Given the description of an element on the screen output the (x, y) to click on. 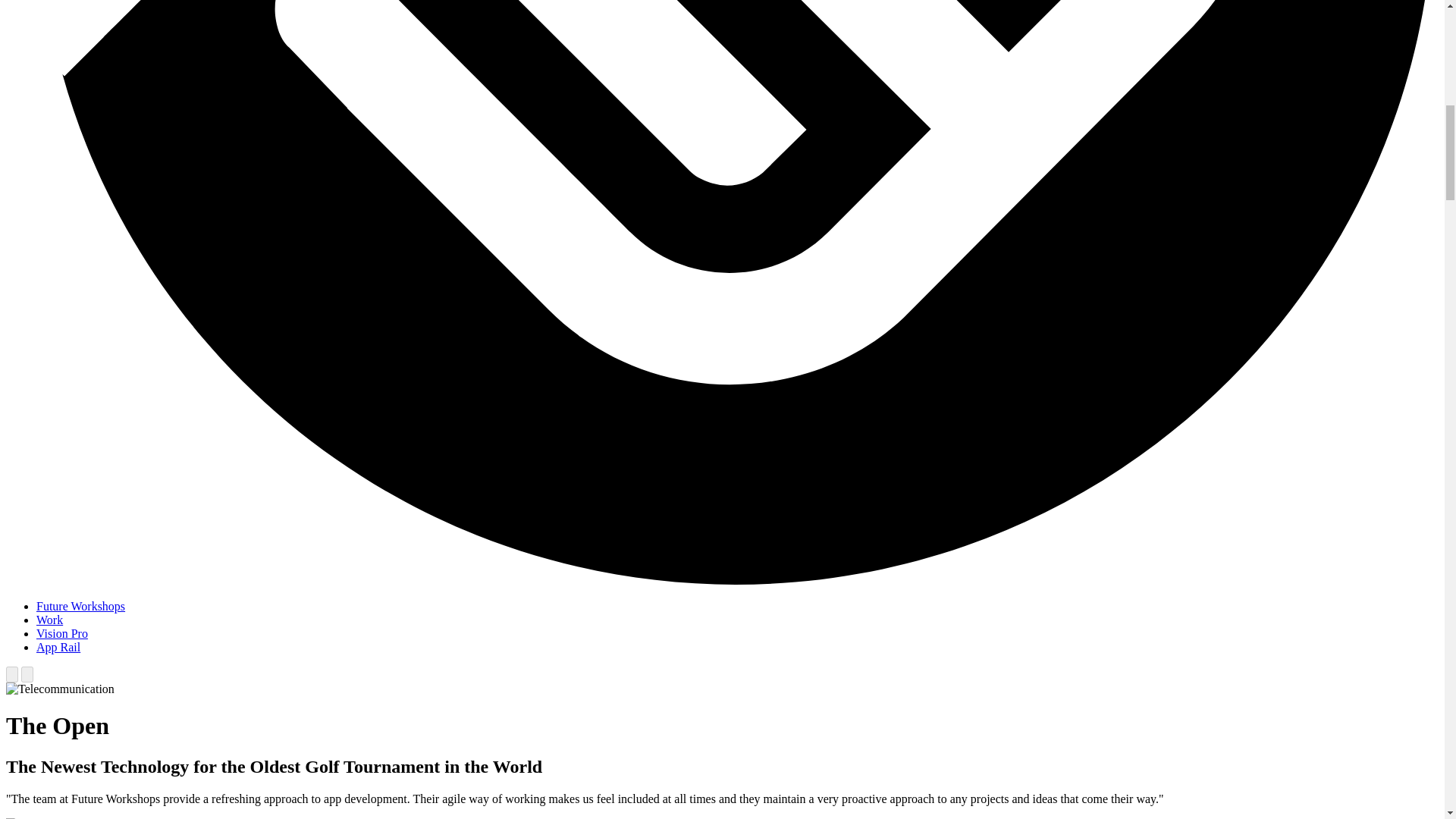
Future Workshops (80, 605)
App Rail (58, 646)
Work (49, 619)
Vision Pro (61, 633)
